Given the description of an element on the screen output the (x, y) to click on. 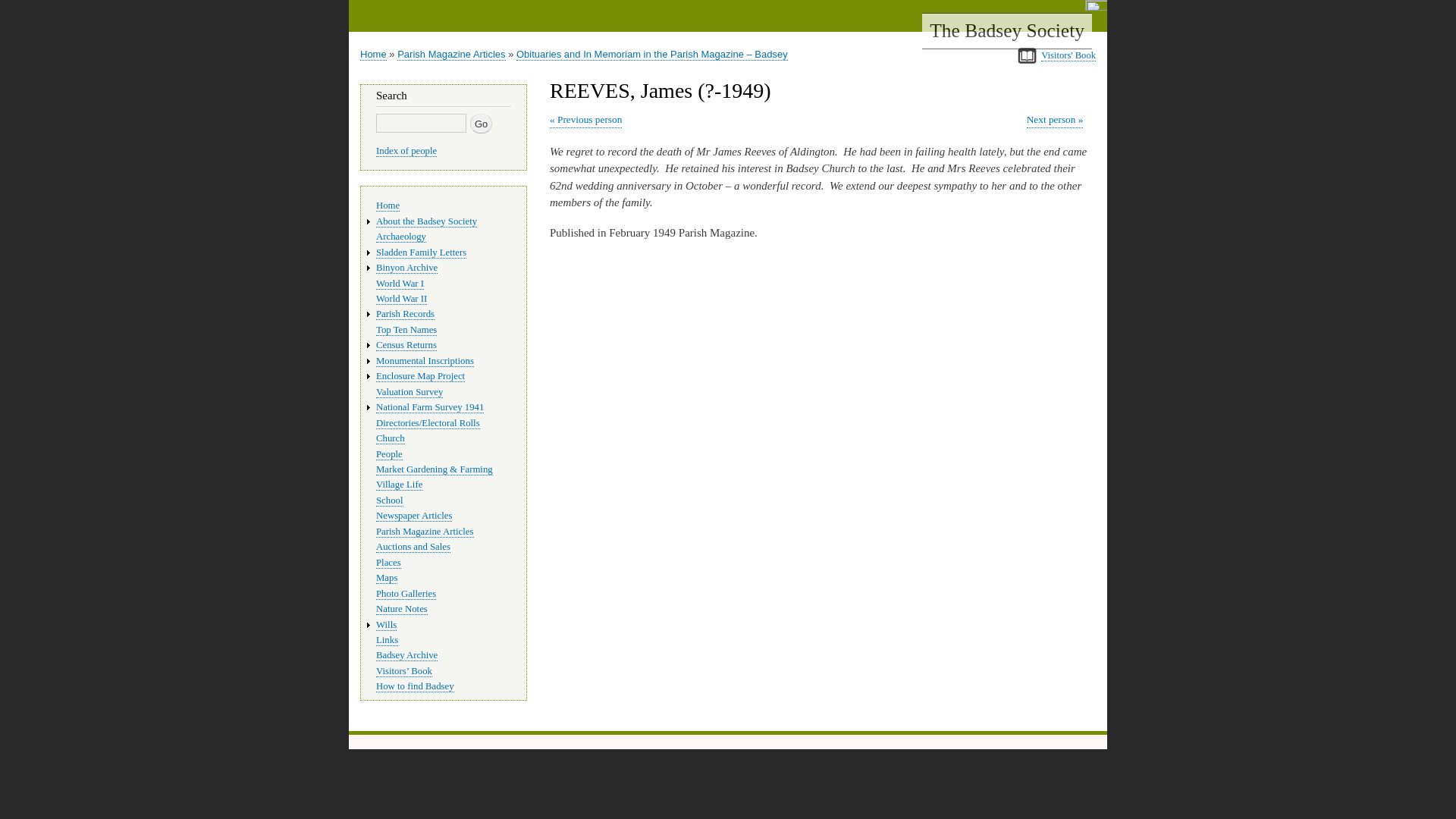
Village Life (398, 484)
Home (373, 54)
National Farm Survey 1941 (429, 407)
Go (481, 123)
Archaeology (400, 236)
Photo Galleries (405, 593)
Maps (386, 577)
World War I (399, 283)
Census Returns (405, 345)
Enter the terms you wish to search for. (420, 122)
Go (481, 123)
Parish Magazine Articles (424, 531)
Binyon Archive (406, 267)
Go (481, 123)
